Given the description of an element on the screen output the (x, y) to click on. 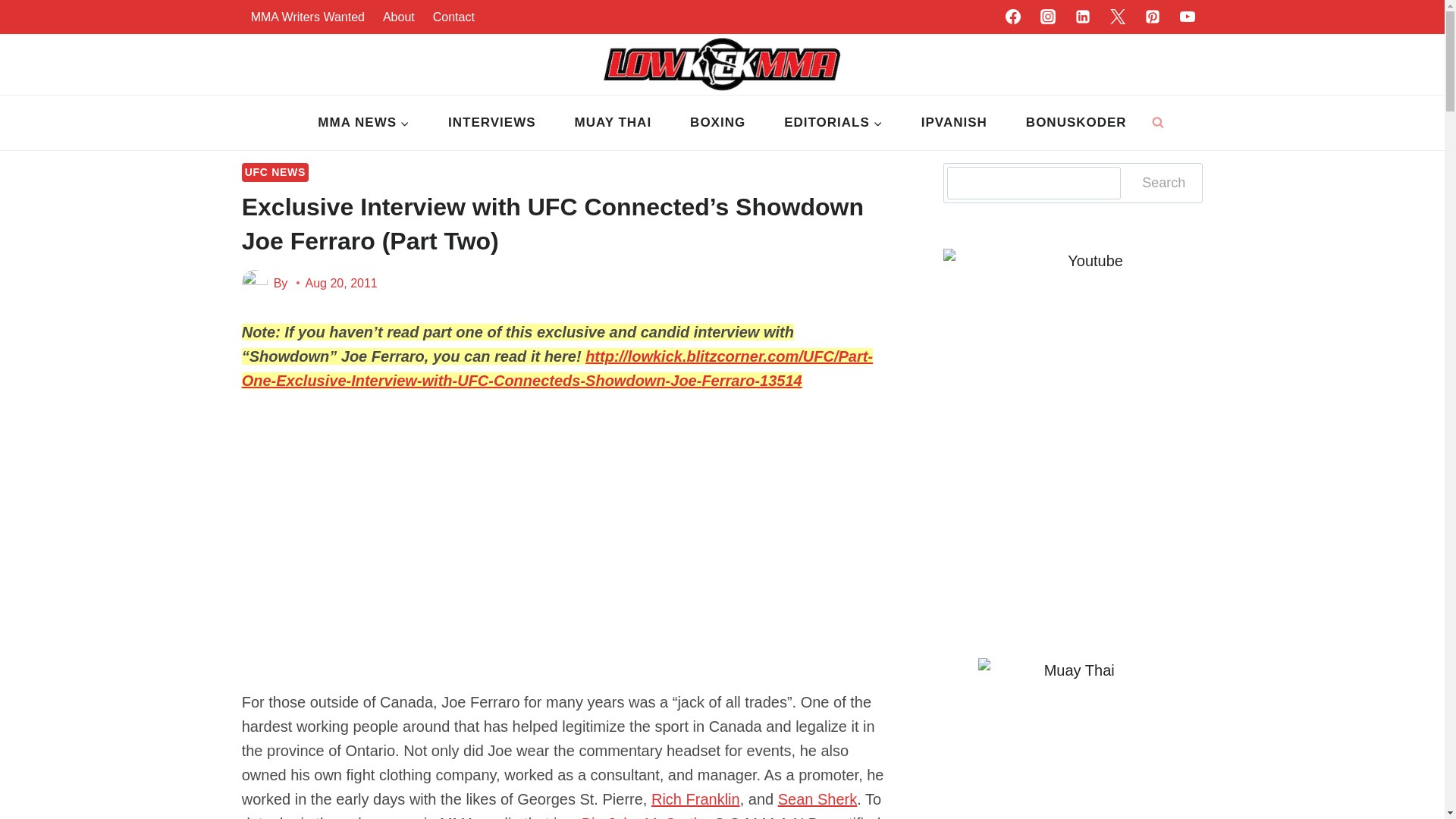
INTERVIEWS (491, 122)
MMA Writers Wanted (307, 17)
BONUSKODER (1075, 122)
IPVANISH (953, 122)
BOXING (718, 122)
About (398, 17)
Big John McCarthy (645, 816)
MUAY THAI (612, 122)
MMA NEWS (363, 122)
Contact (453, 17)
